Given the description of an element on the screen output the (x, y) to click on. 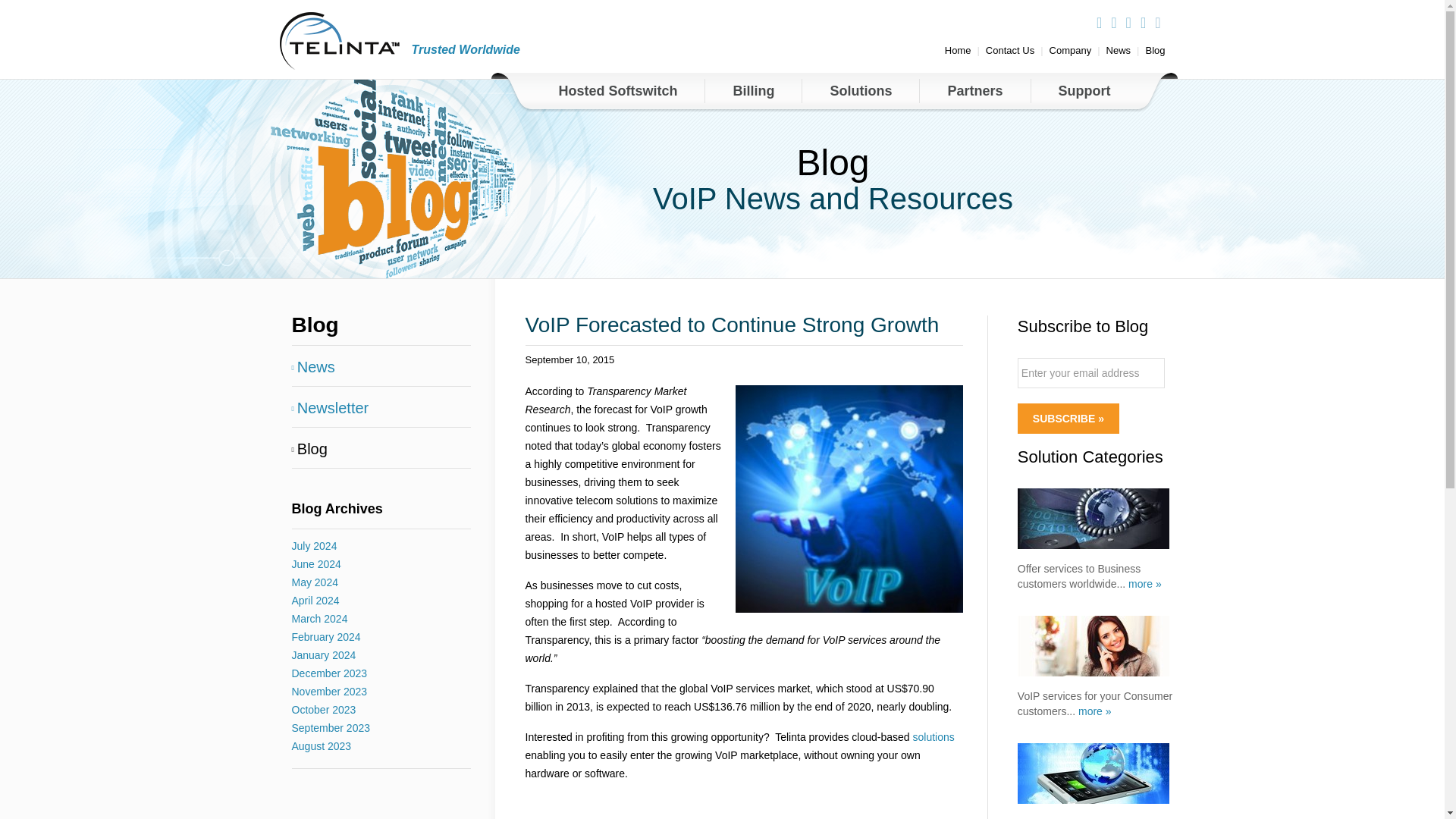
Solutions (861, 90)
Hosted Softswitch (616, 90)
Support (1083, 90)
Solutions (861, 90)
Telinta (338, 40)
Billing (753, 90)
Partners (974, 90)
Billing (753, 90)
Partners (974, 90)
Hosted Softswitch (616, 90)
Permalink to VoIP Forecasted to Continue Strong Growth (569, 359)
